Given the description of an element on the screen output the (x, y) to click on. 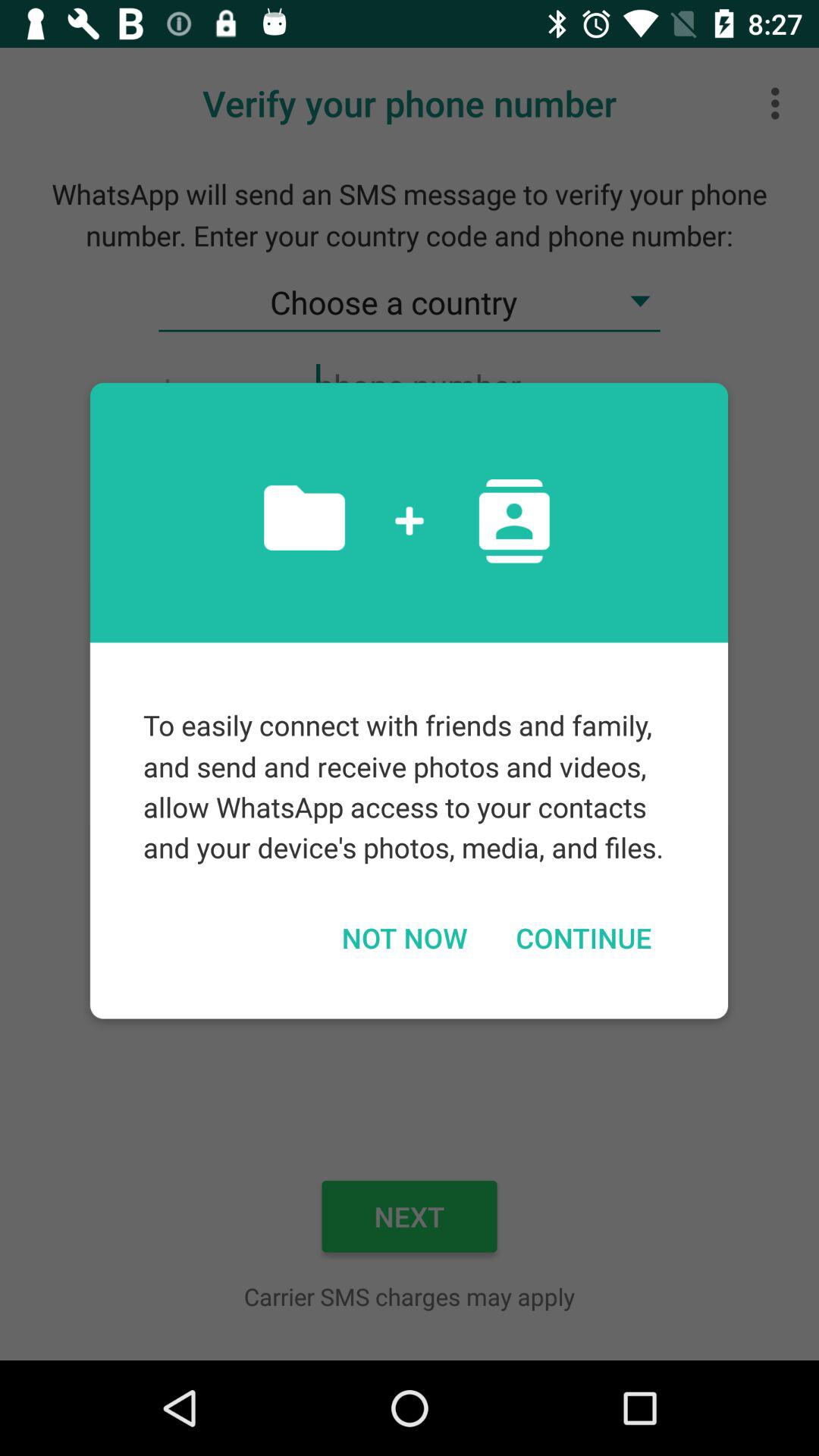
press continue item (583, 937)
